Given the description of an element on the screen output the (x, y) to click on. 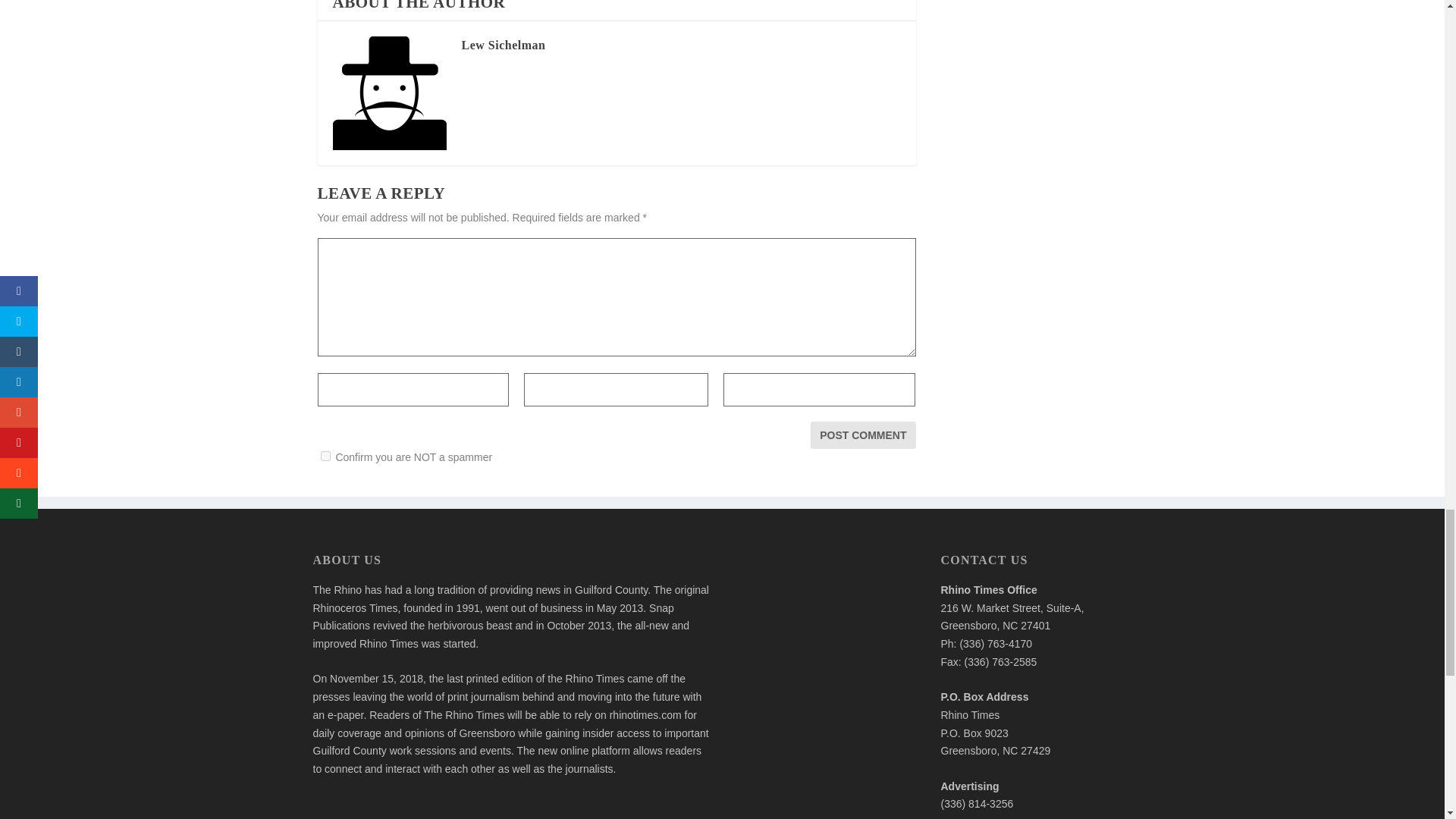
View all posts by Lew Sichelman (502, 44)
on (325, 456)
Post Comment (862, 434)
